Given the description of an element on the screen output the (x, y) to click on. 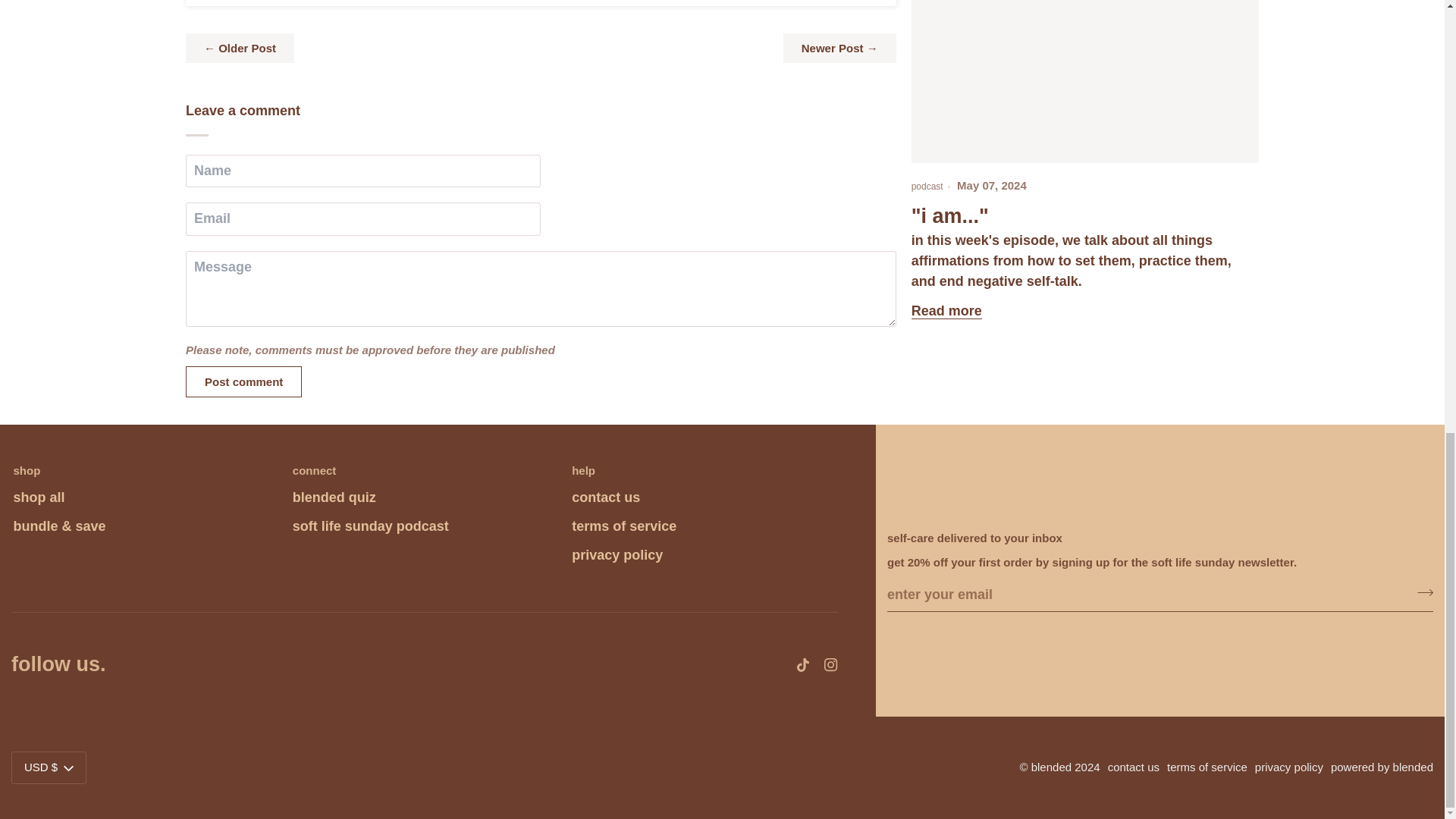
Tiktok (802, 664)
privacy policy (617, 554)
"i am..." (949, 215)
Post comment (243, 381)
Instagram (831, 664)
terms of service (624, 525)
Read more (946, 310)
contact us (606, 497)
shop all (39, 497)
soft life sunday podcast (370, 525)
blended quiz (333, 497)
